Given the description of an element on the screen output the (x, y) to click on. 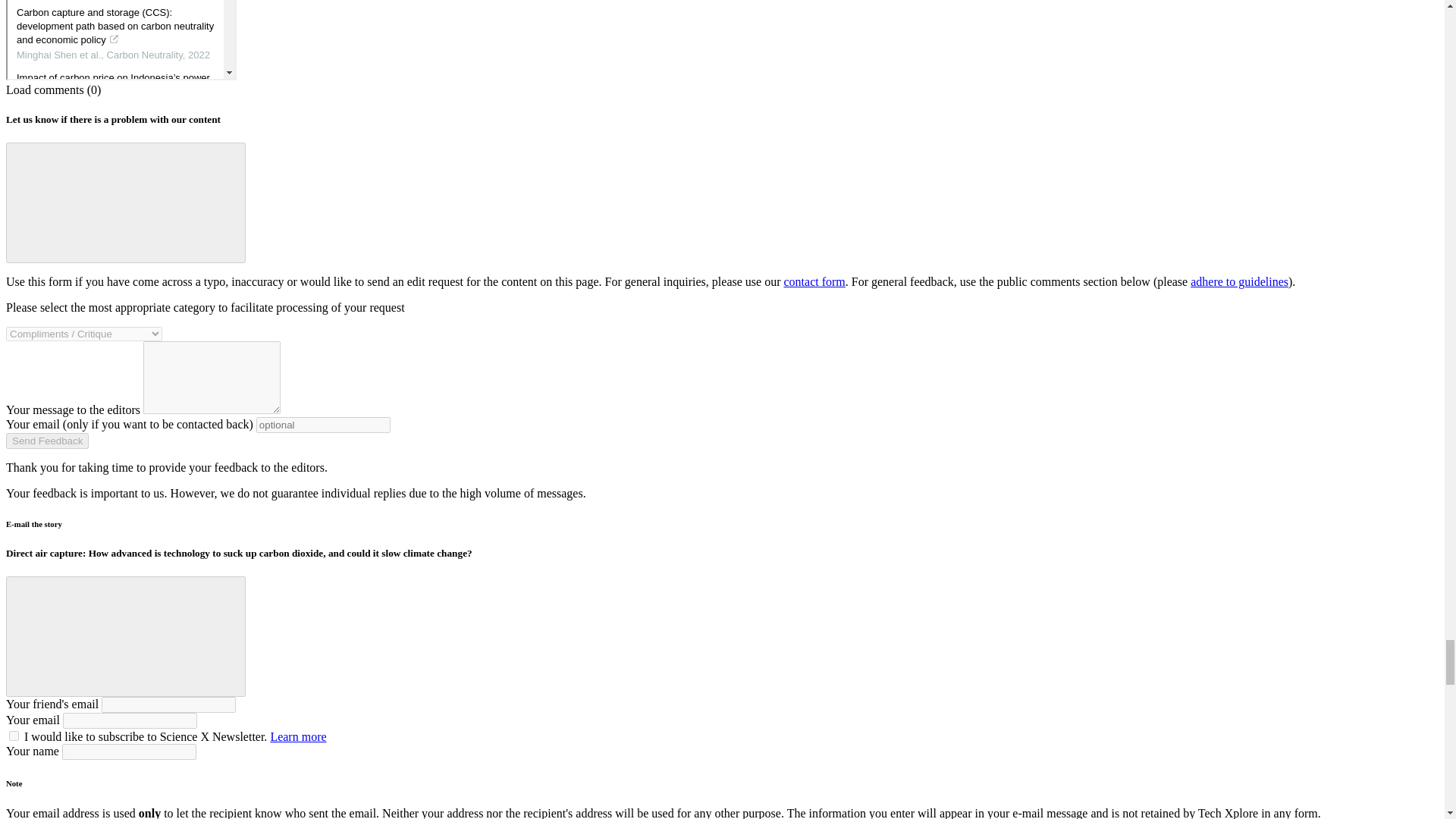
1 (13, 736)
